Given the description of an element on the screen output the (x, y) to click on. 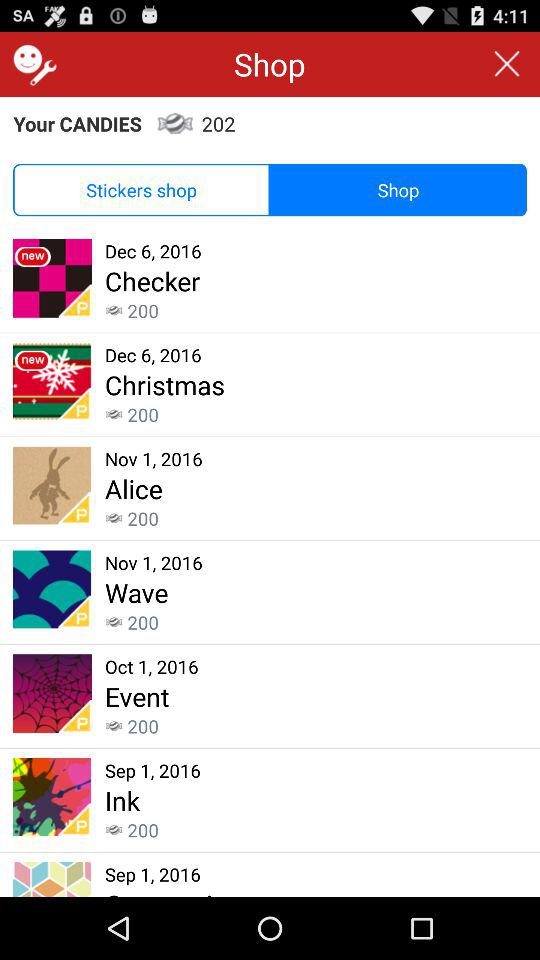
open the icon above 200 item (164, 384)
